Given the description of an element on the screen output the (x, y) to click on. 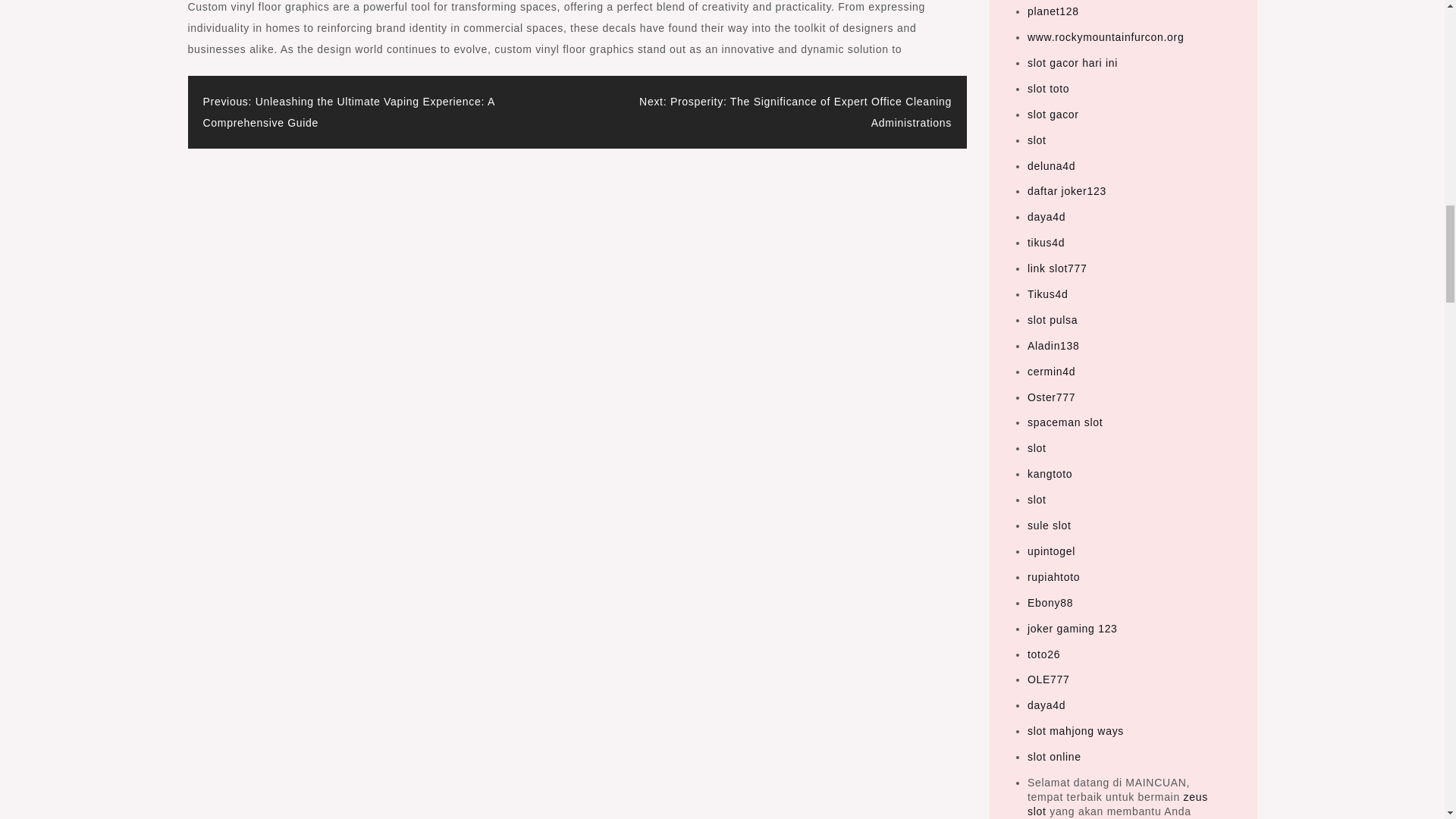
planet128 (1052, 10)
www.rockymountainfurcon.org (1105, 37)
